Given the description of an element on the screen output the (x, y) to click on. 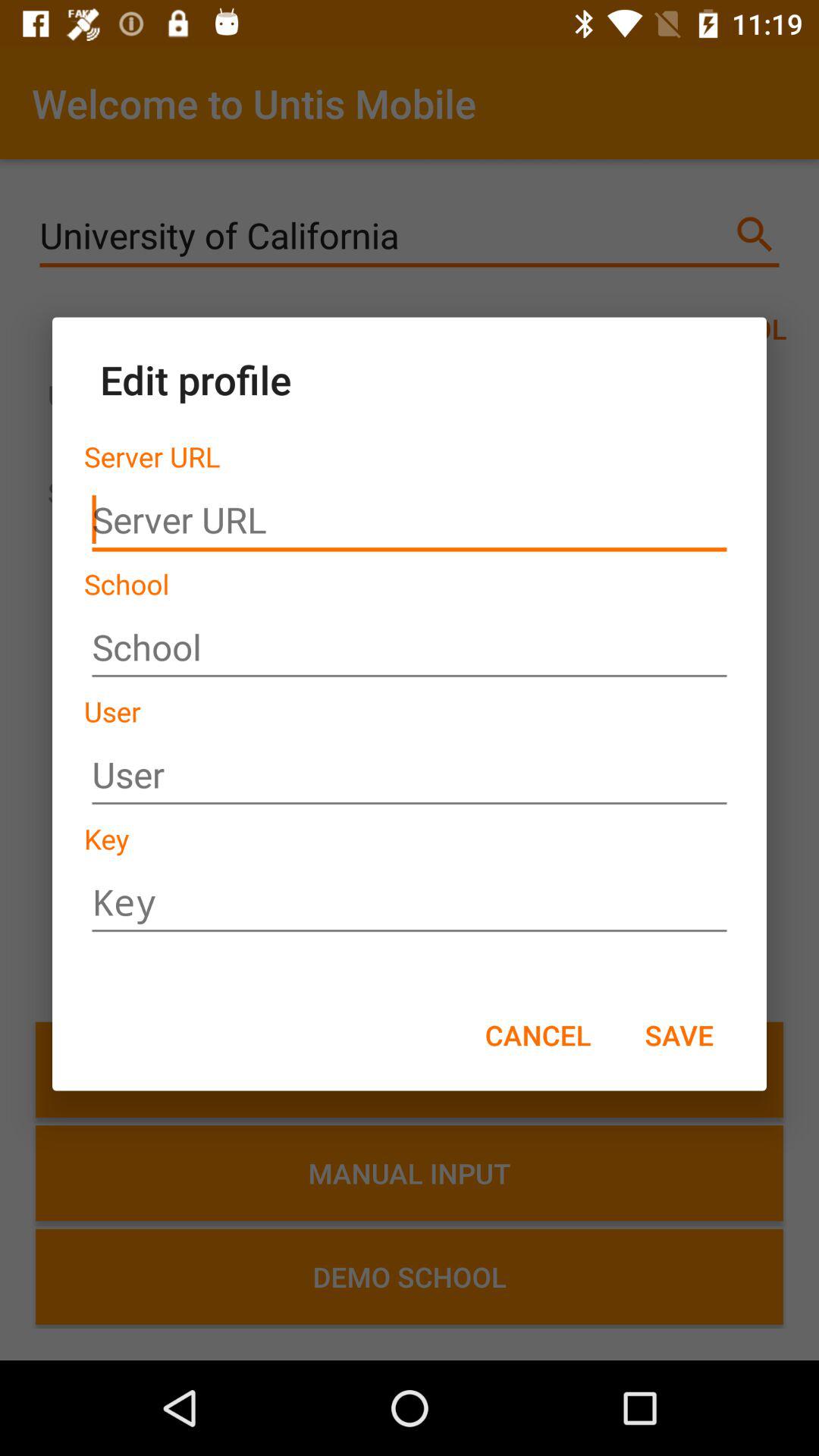
turn off the item to the right of cancel icon (678, 1034)
